Given the description of an element on the screen output the (x, y) to click on. 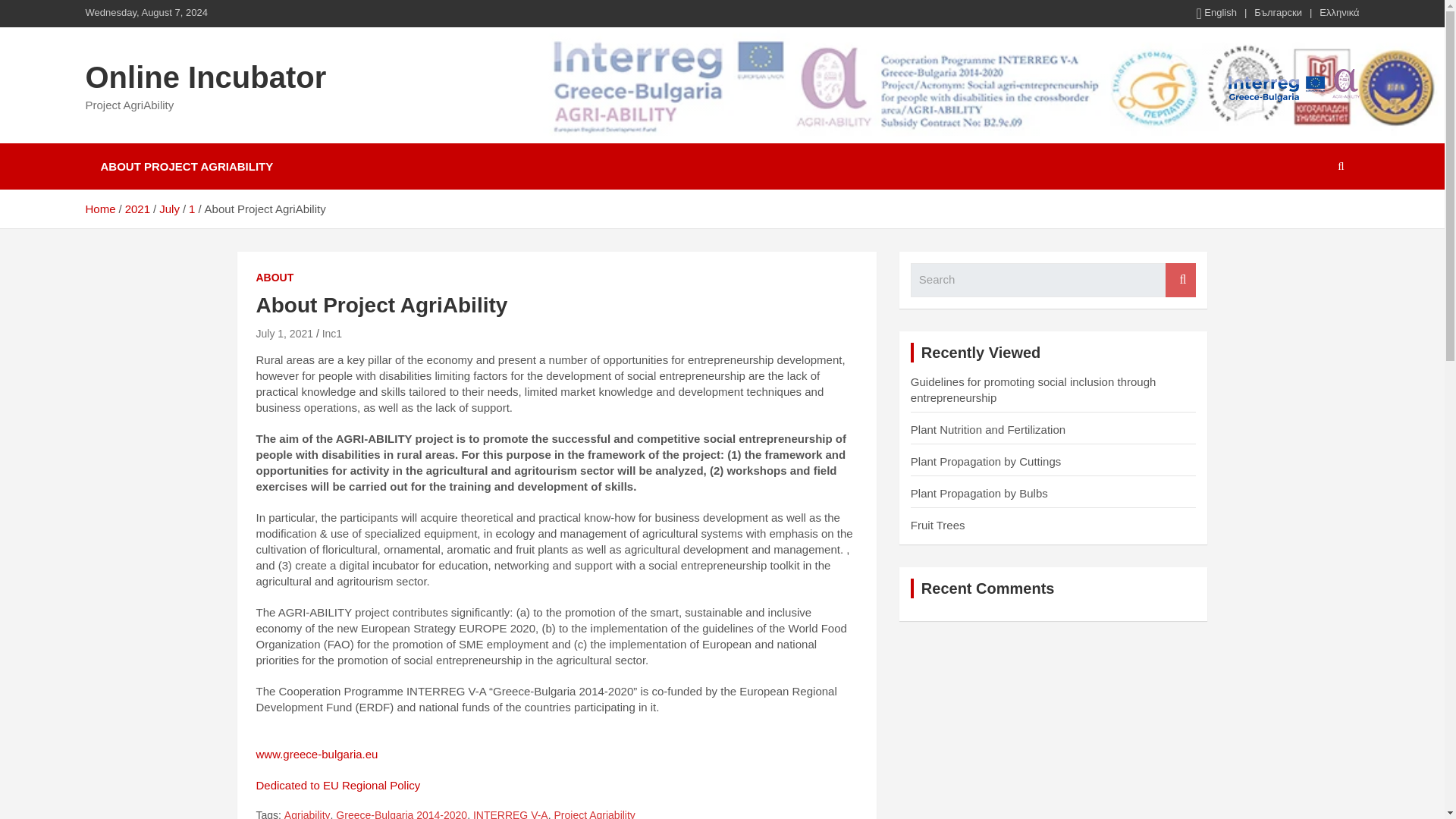
Fruit Trees (938, 524)
Inc1 (331, 333)
Dedicated to EU Regional Policy (338, 784)
Plant Propagation by Bulbs (979, 492)
Greece-Bulgaria 2014-2020 (401, 813)
Project Agriability (593, 813)
2021 (137, 208)
ABOUT PROJECT AGRIABILITY (186, 166)
About Project AgriAbility (285, 333)
